Given the description of an element on the screen output the (x, y) to click on. 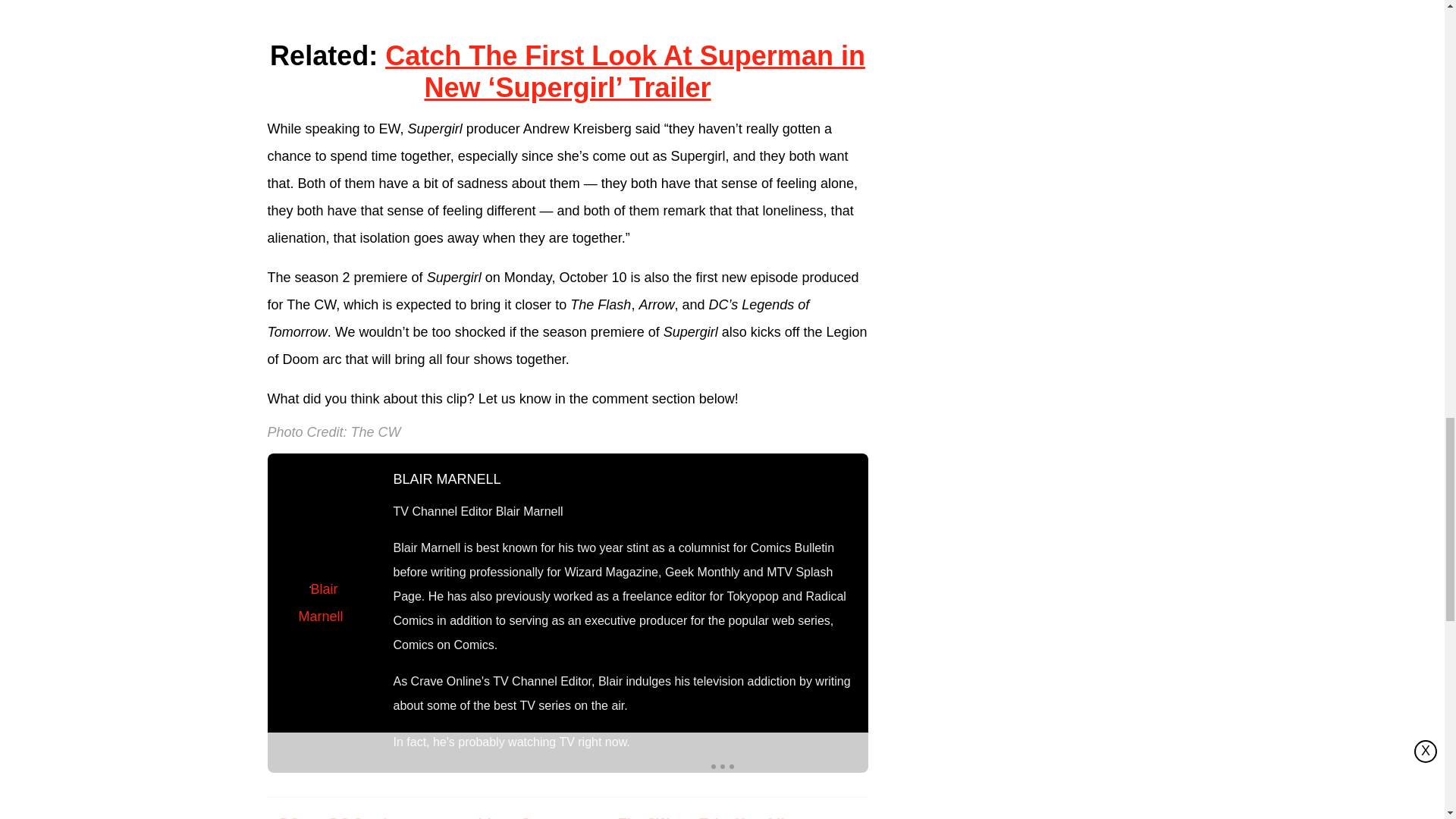
Tyler Hoechlin (746, 814)
BLAIR MARNELL (446, 478)
Superman (554, 814)
DC Comics (365, 814)
supergirl (461, 814)
The CW (644, 814)
DC (288, 814)
